Given the description of an element on the screen output the (x, y) to click on. 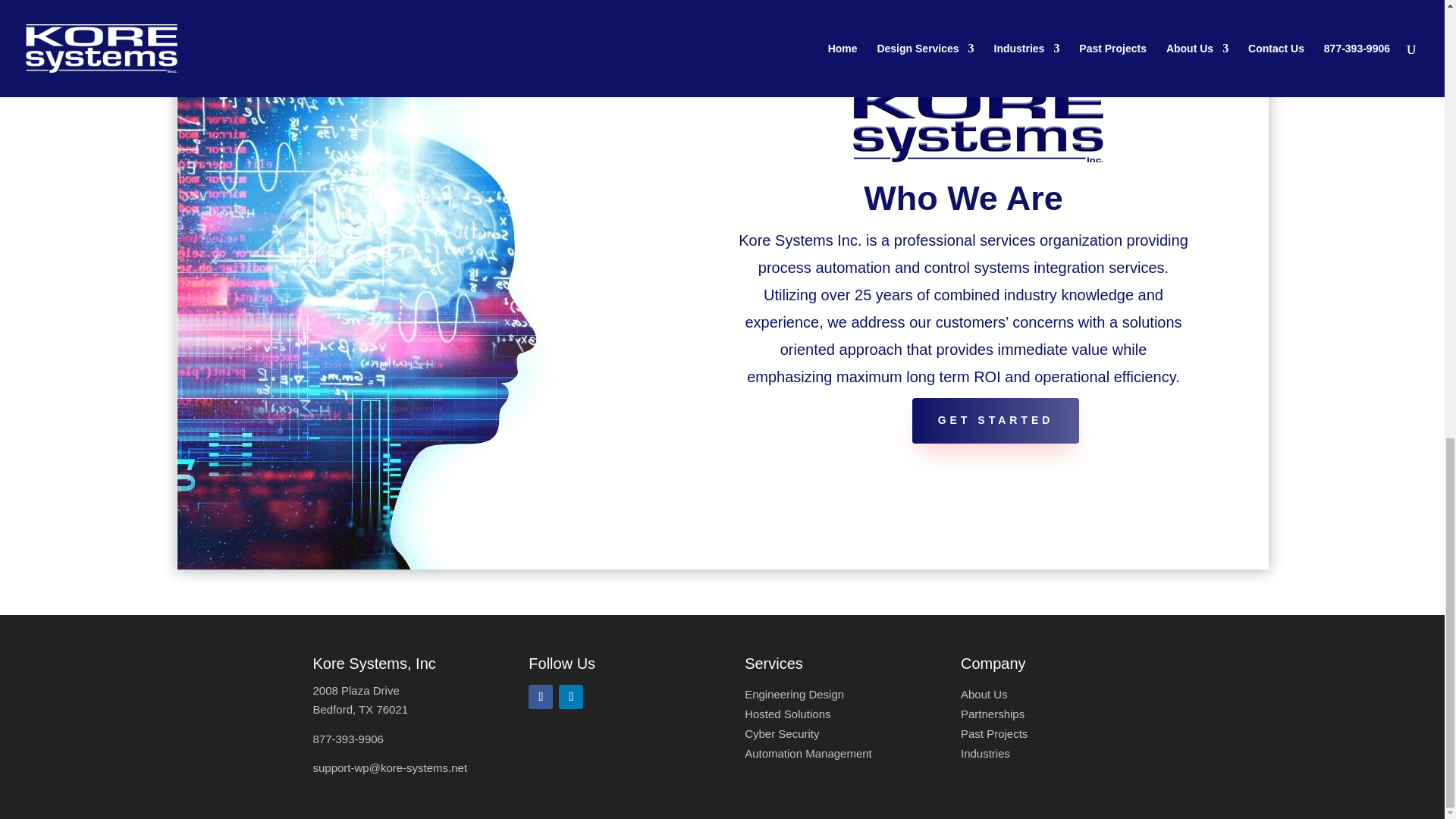
Engineering Design (794, 694)
Learn About Kore (983, 694)
Kore Systems Location (360, 699)
Cyber Security (781, 733)
Follow on Facebook (540, 696)
SCADA Hosting (786, 713)
Controls Asset Management (808, 753)
Kore-Web-Logo (978, 122)
Follow on LinkedIn (571, 696)
